Given the description of an element on the screen output the (x, y) to click on. 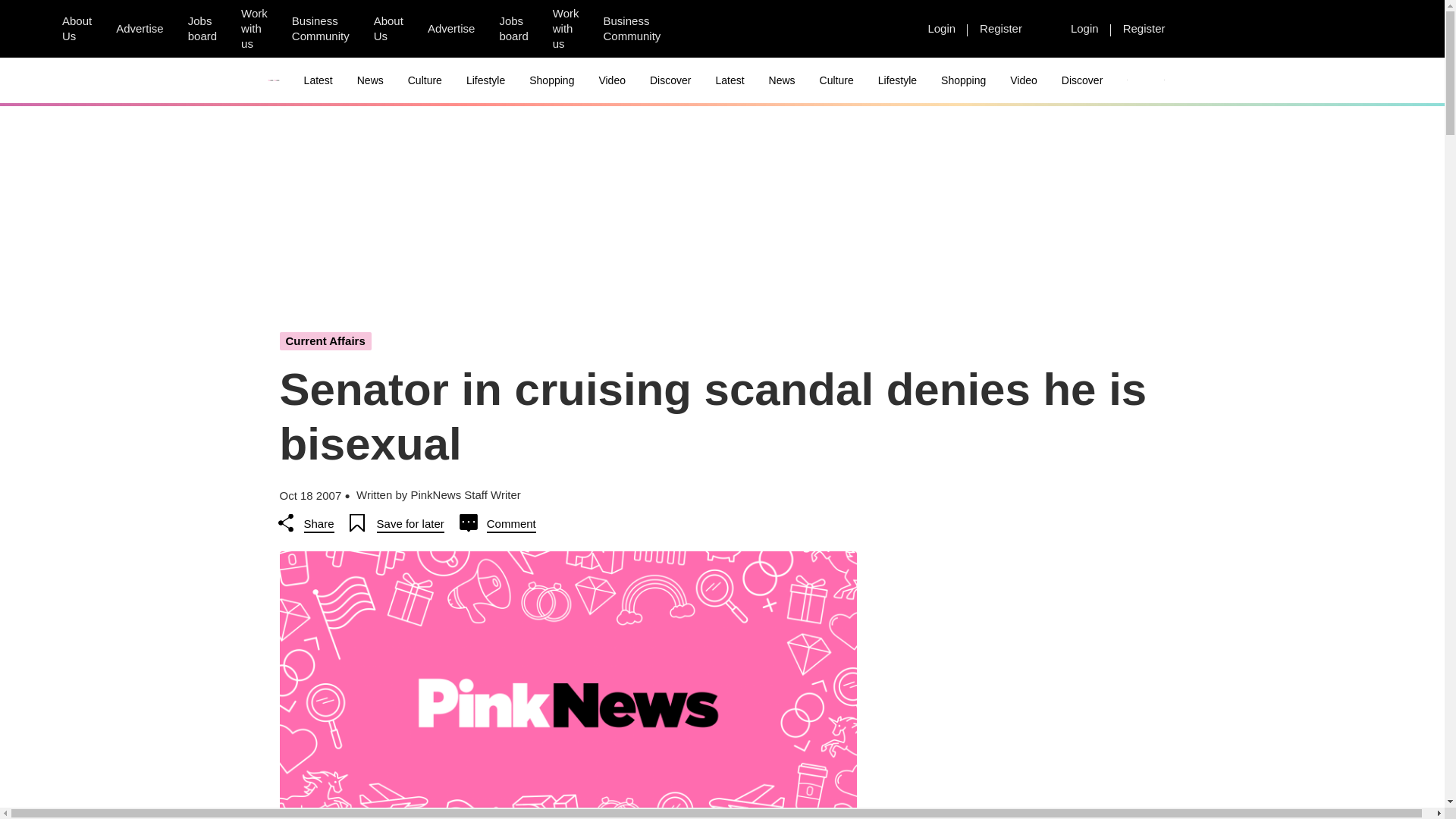
Advertise (139, 28)
News (370, 79)
Register (1143, 28)
Login (1084, 28)
Work with us (565, 28)
About Us (76, 28)
Latest (318, 79)
Register (1000, 28)
Business Community (631, 28)
Jobs board (202, 28)
Follow PinkNews on LinkedIn (775, 28)
Business Community (320, 28)
Login (941, 28)
About Us (387, 28)
Jobs board (513, 28)
